Given the description of an element on the screen output the (x, y) to click on. 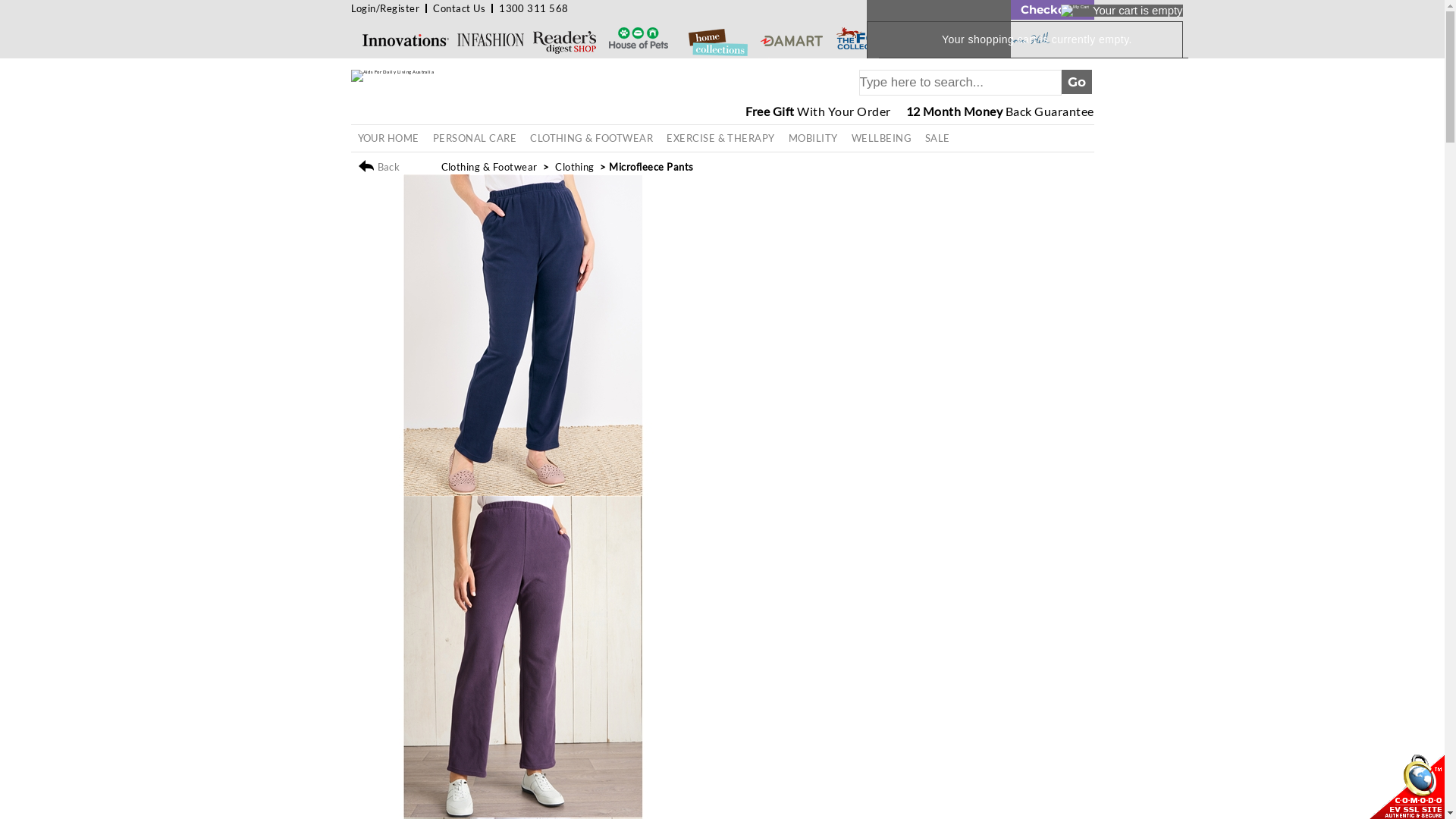
EXERCISE & THERAPY Element type: text (720, 138)
YOUR HOME Element type: text (387, 138)
WELLBEING Element type: text (881, 138)
CLOTHING & FOOTWEAR Element type: text (591, 138)
Go Element type: text (1076, 81)
Checkout > Element type: text (1051, 9)
Clothing & Footwear Element type: text (489, 166)
Back Element type: text (397, 167)
SALE Element type: text (937, 138)
Your cart is empty Element type: text (1121, 10)
PERSONAL CARE Element type: text (474, 138)
Clothing Element type: text (574, 166)
Contact Us Element type: text (459, 8)
MOBILITY Element type: text (812, 138)
Login/Register Element type: text (384, 8)
